Given the description of an element on the screen output the (x, y) to click on. 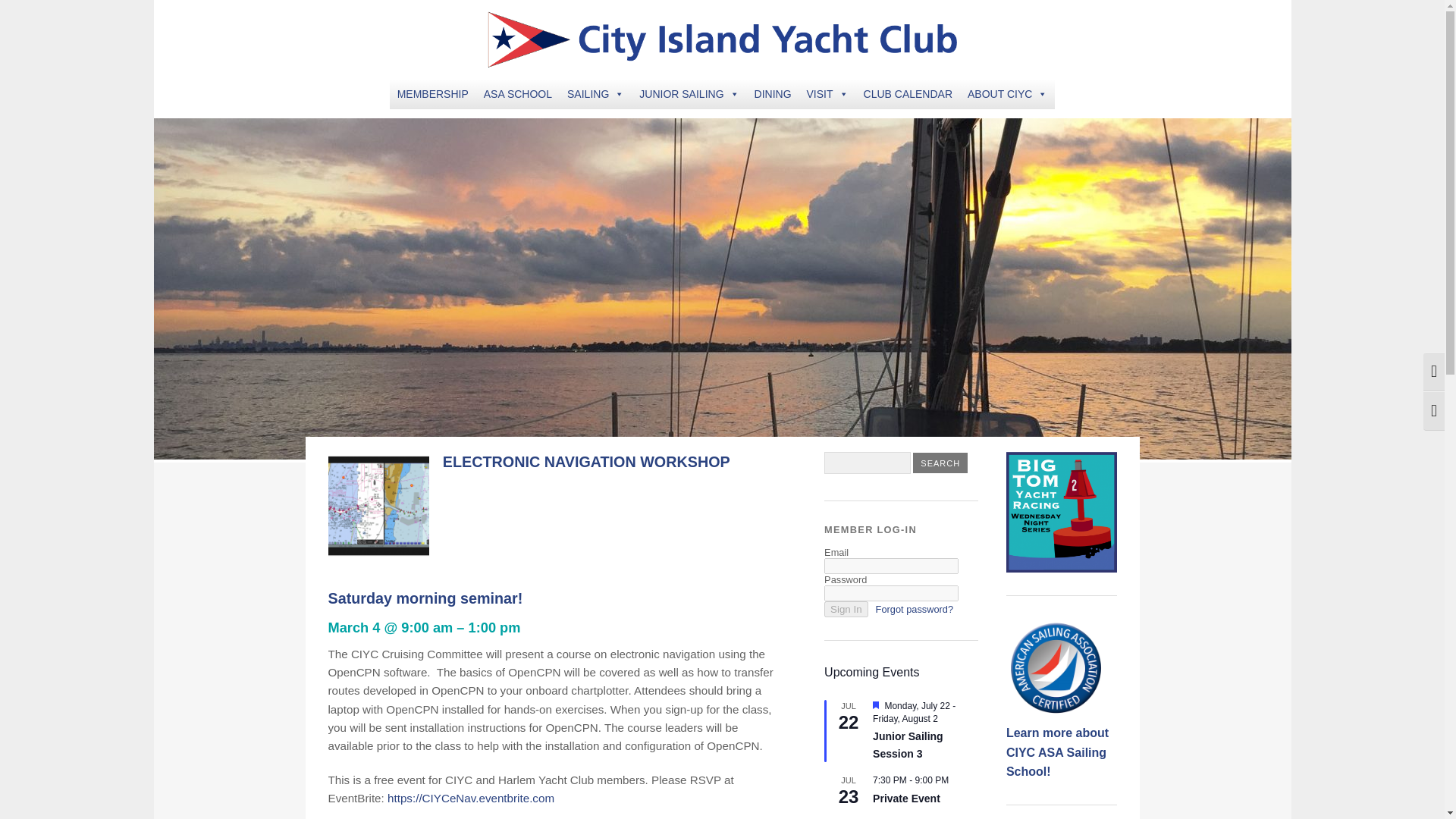
ASA SCHOOL (517, 93)
Search (940, 462)
MEMBERSHIP (433, 93)
Forgot password? (914, 609)
SAILING (595, 93)
VISIT (827, 93)
Search (940, 462)
CLUB CALENDAR (907, 93)
Sign In (845, 609)
DINING (772, 93)
JUNIOR SAILING (688, 93)
ABOUT CIYC (1006, 93)
Sign In (845, 609)
Search (940, 462)
